Given the description of an element on the screen output the (x, y) to click on. 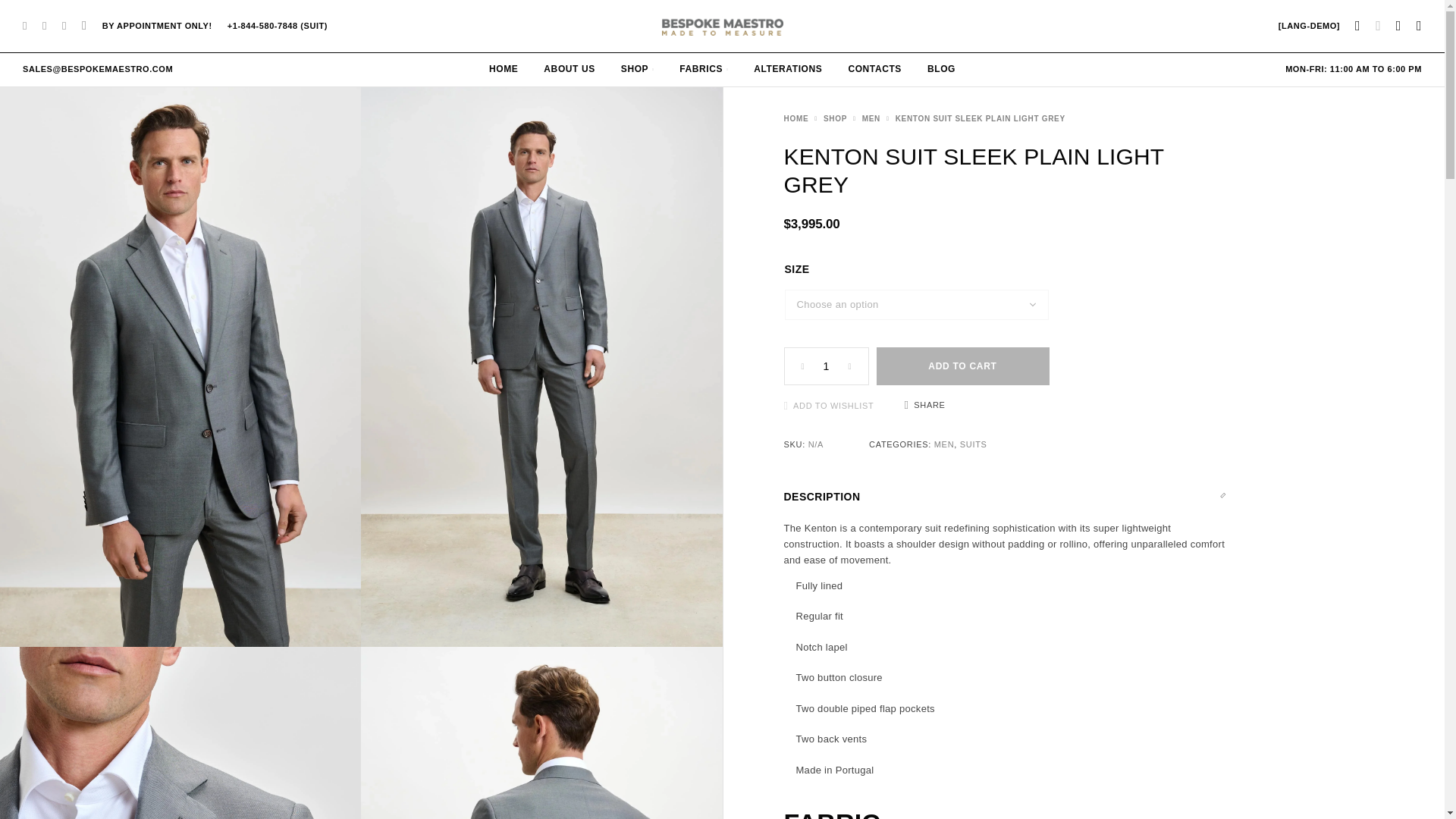
Qty (825, 366)
Login (1358, 25)
1 (825, 366)
